Given the description of an element on the screen output the (x, y) to click on. 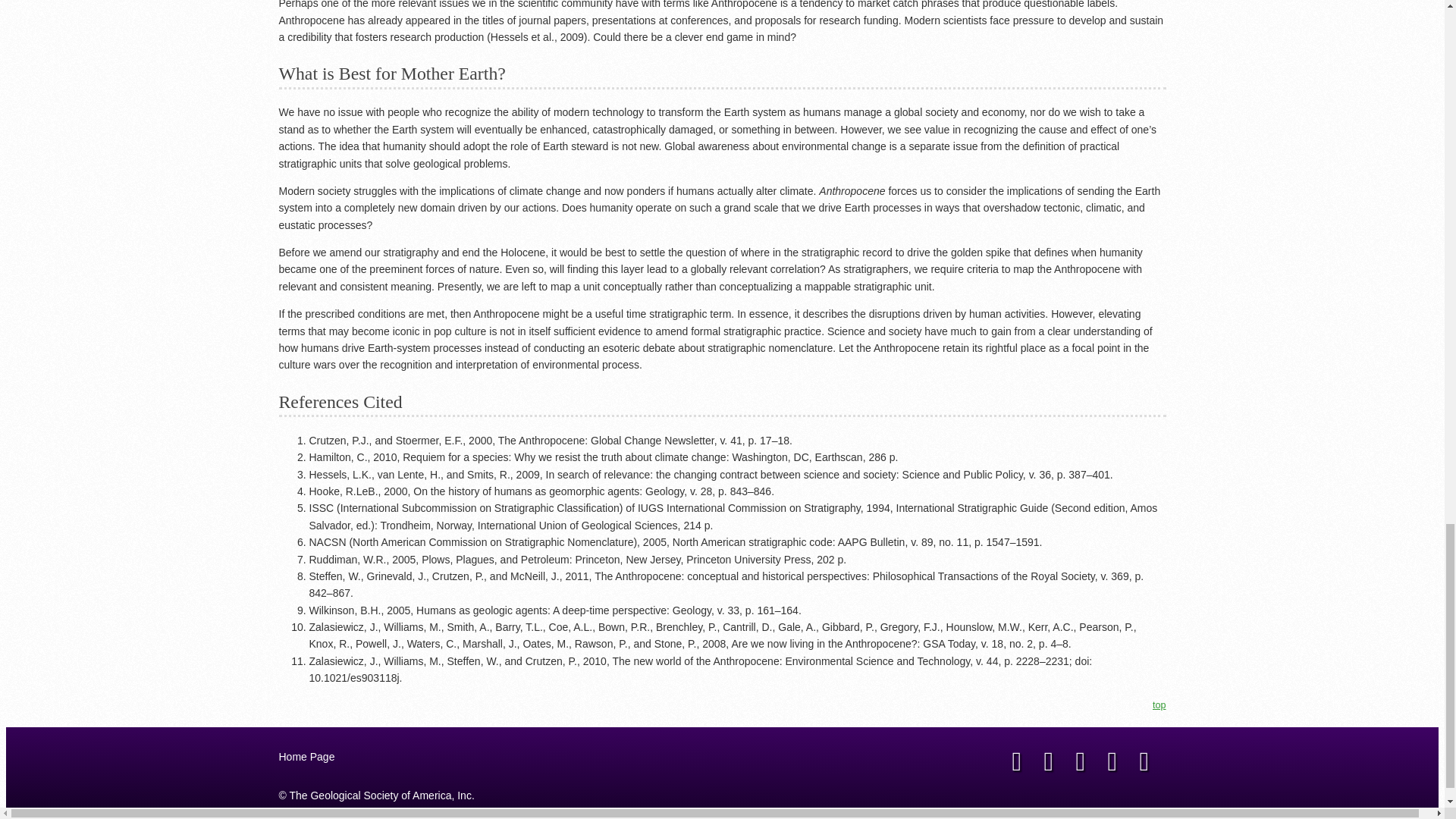
top (1159, 705)
